Given the description of an element on the screen output the (x, y) to click on. 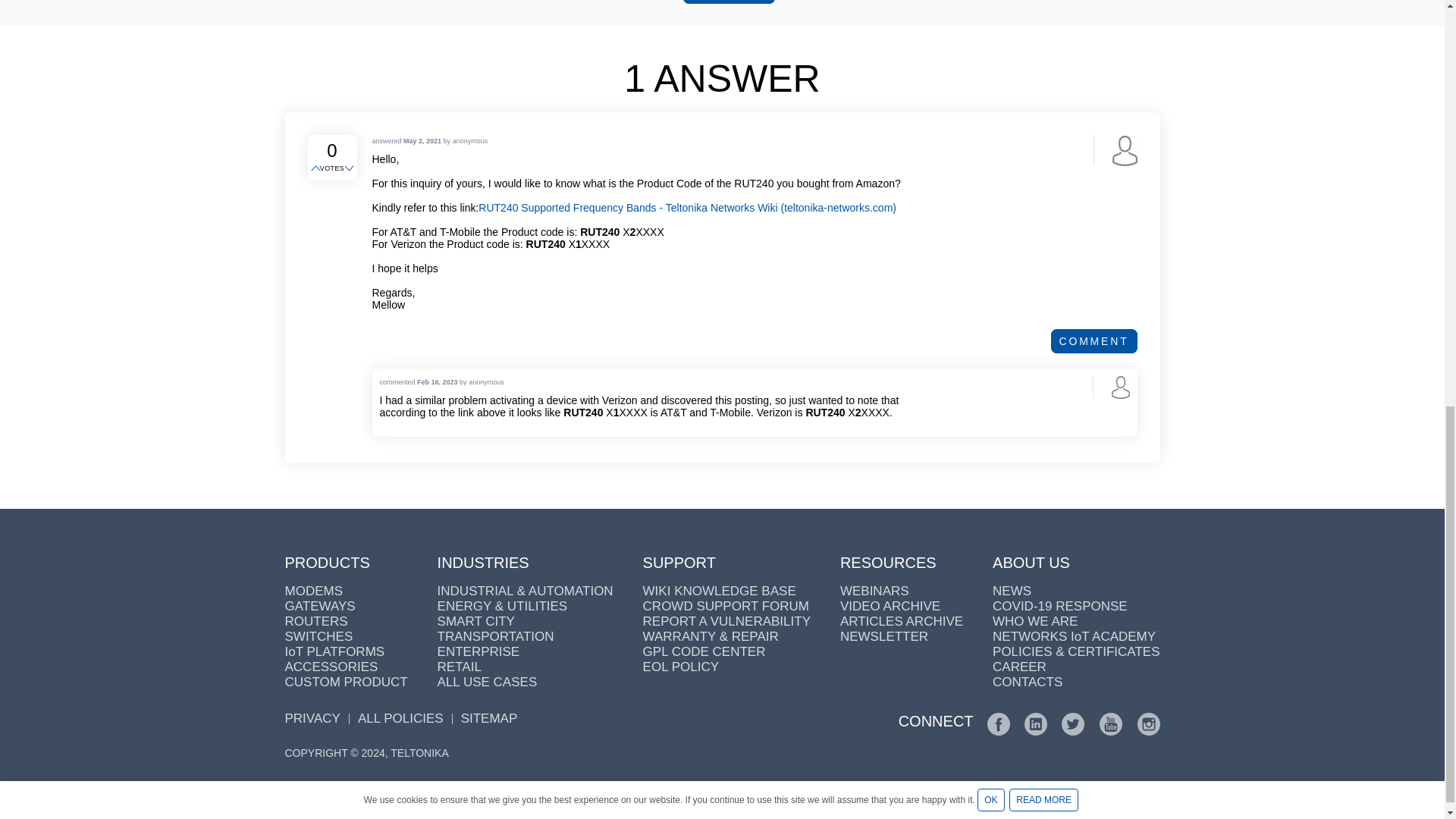
Add a comment on this answer (1094, 340)
comment (1094, 340)
Click to vote up (317, 168)
answer (728, 2)
Click to vote down (349, 168)
Answer this question (728, 2)
